Given the description of an element on the screen output the (x, y) to click on. 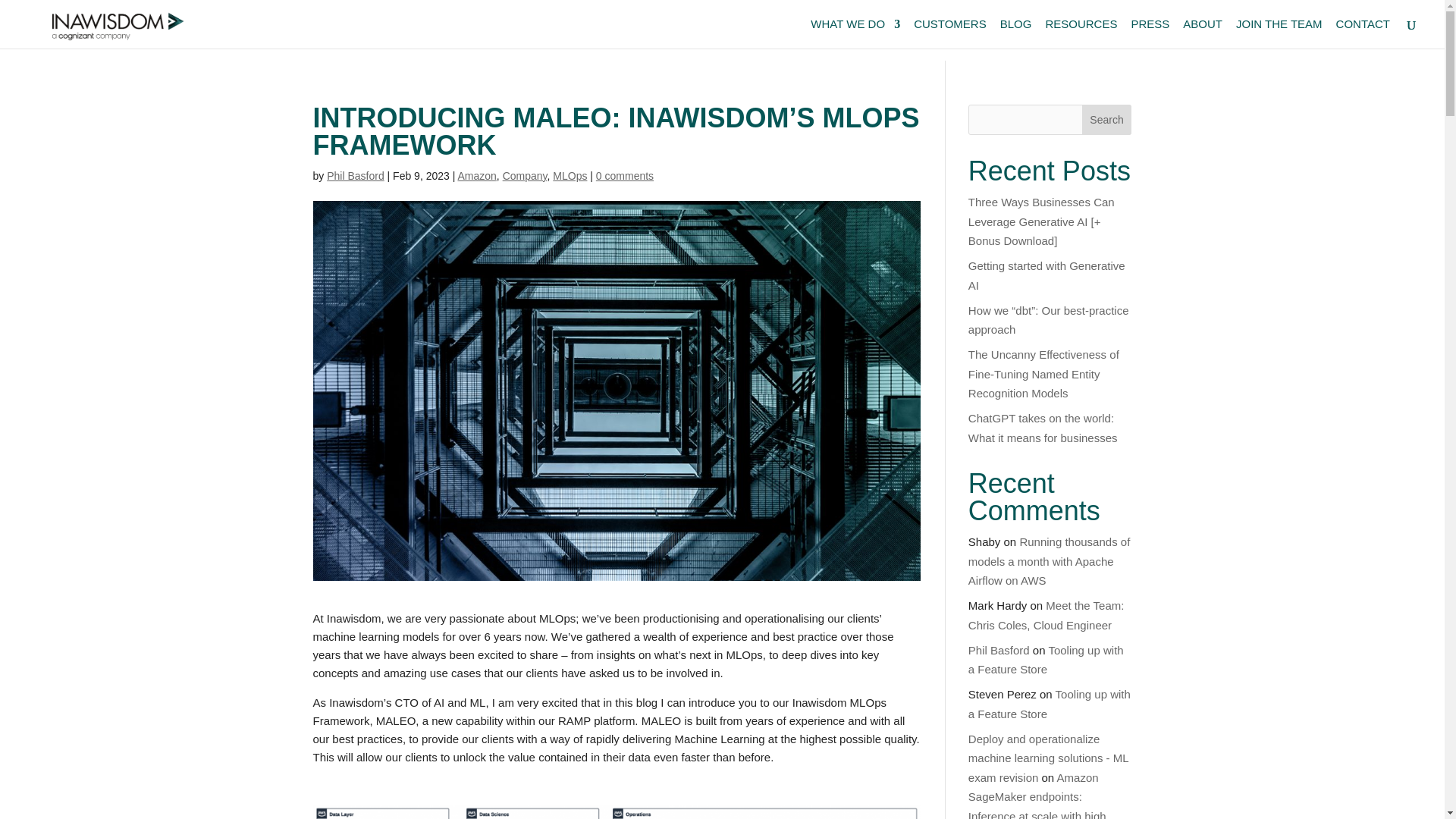
WHAT WE DO (854, 33)
RESOURCES (1080, 33)
Company (524, 175)
MLOps (569, 175)
ABOUT (1202, 33)
Phil Basford (355, 175)
0 comments (624, 175)
PRESS (1150, 33)
Search (1106, 119)
JOIN THE TEAM (1279, 33)
